Given the description of an element on the screen output the (x, y) to click on. 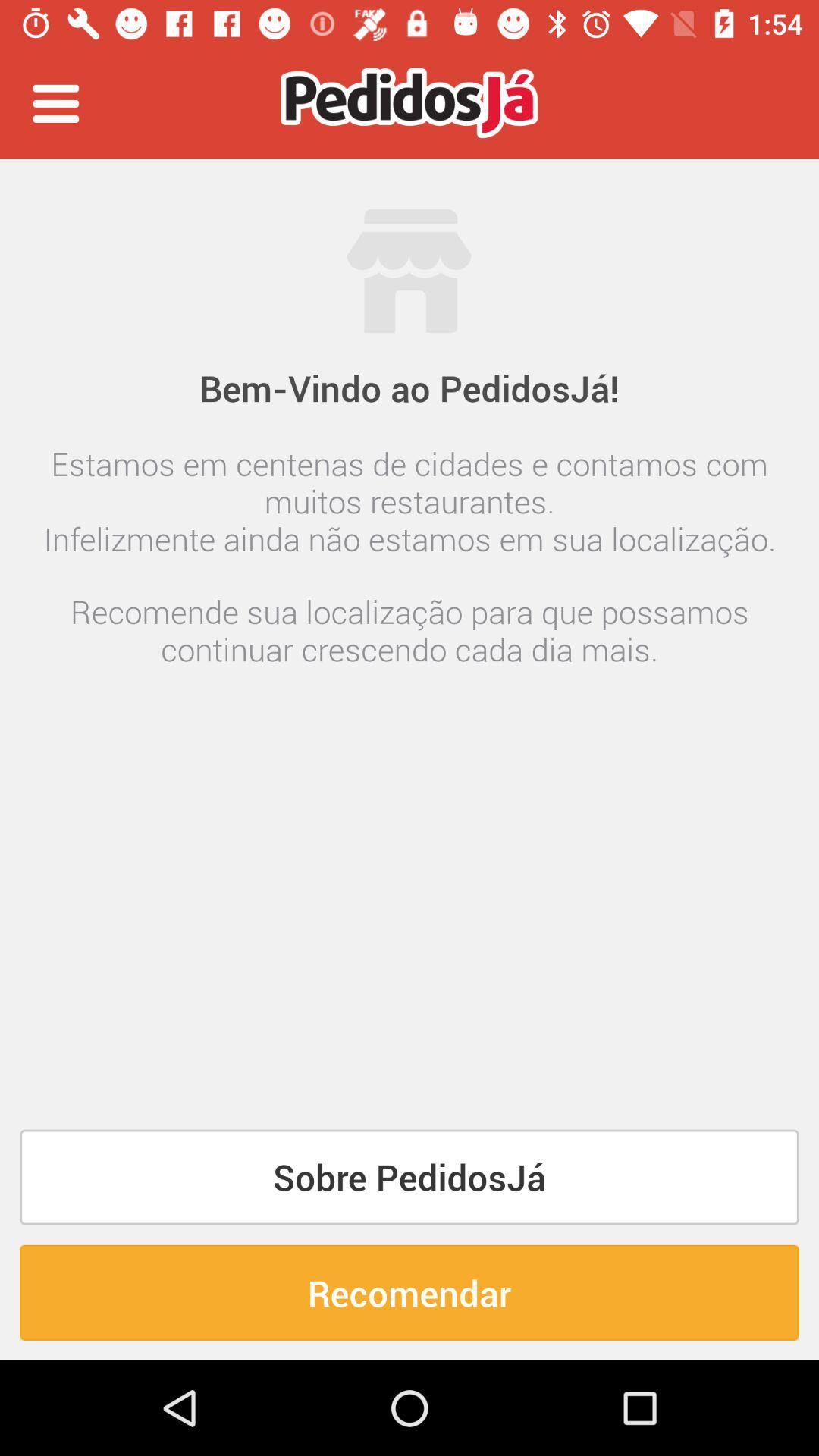
open item above bem vindo ao (55, 103)
